Given the description of an element on the screen output the (x, y) to click on. 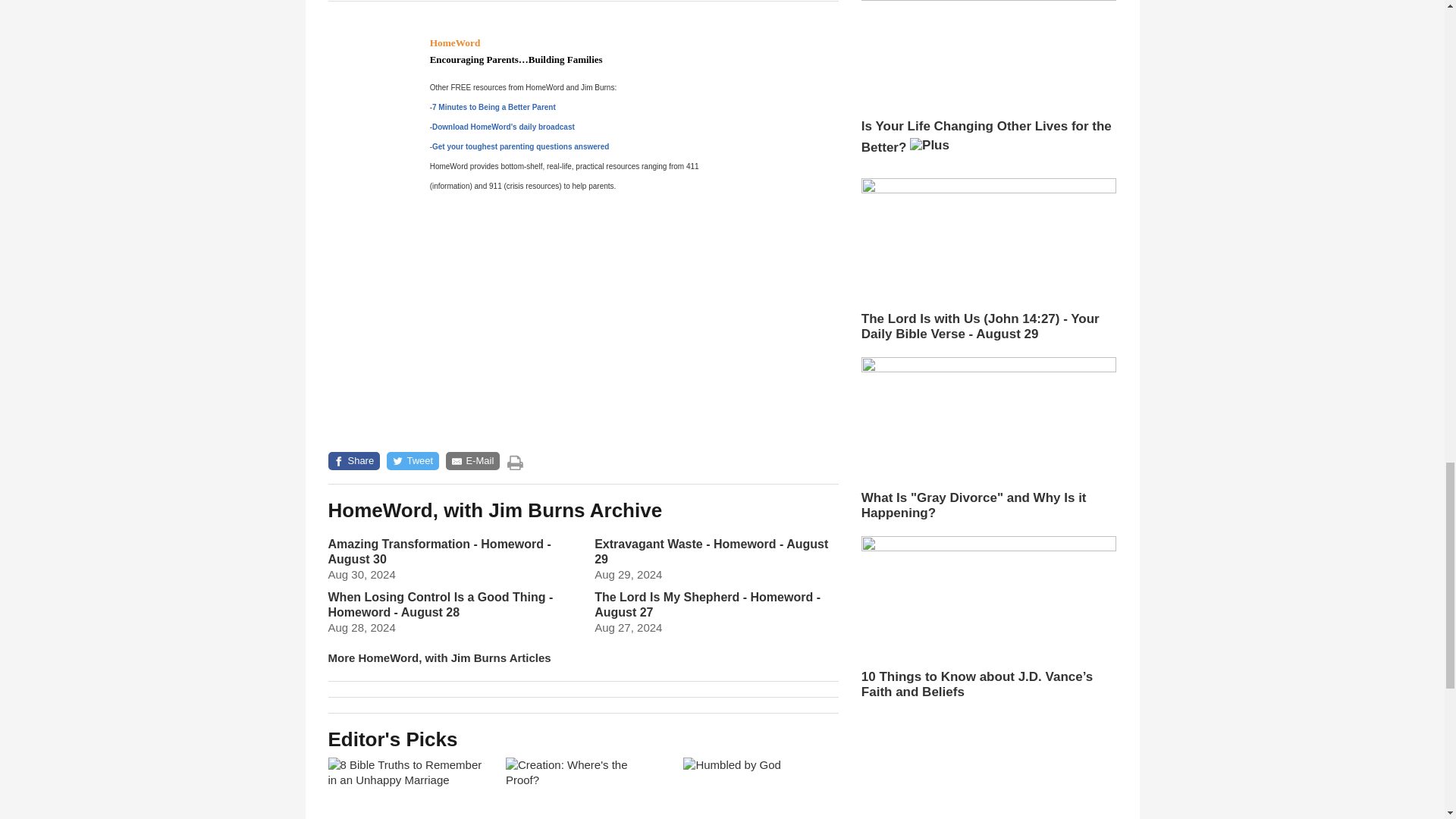
8 Bible Truths to Remember in an Unhappy Marriage (404, 788)
Humbled by God (760, 788)
Creation: Where's the Proof? (583, 788)
